Given the description of an element on the screen output the (x, y) to click on. 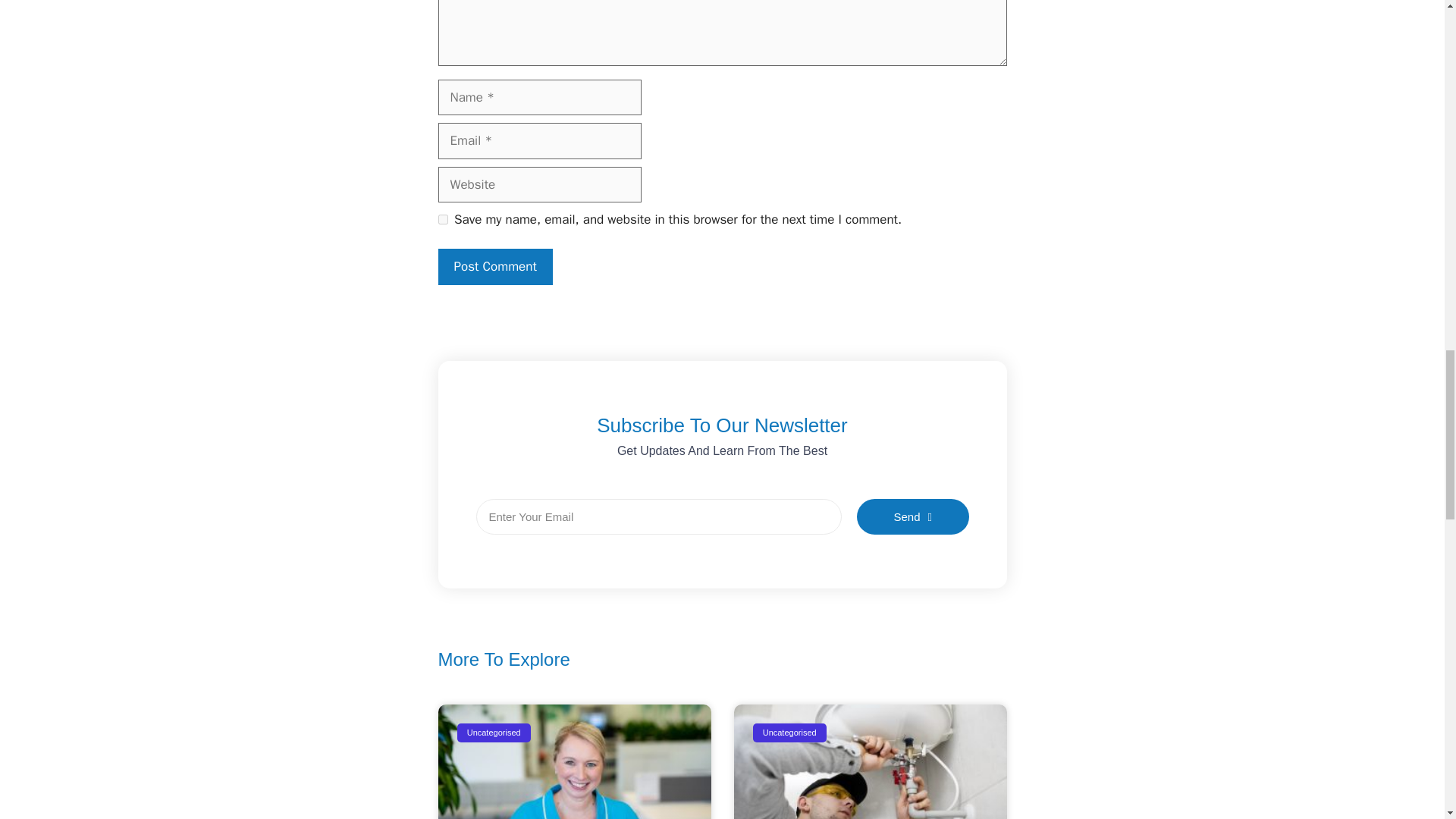
yes (443, 219)
Post Comment (495, 266)
